Given the description of an element on the screen output the (x, y) to click on. 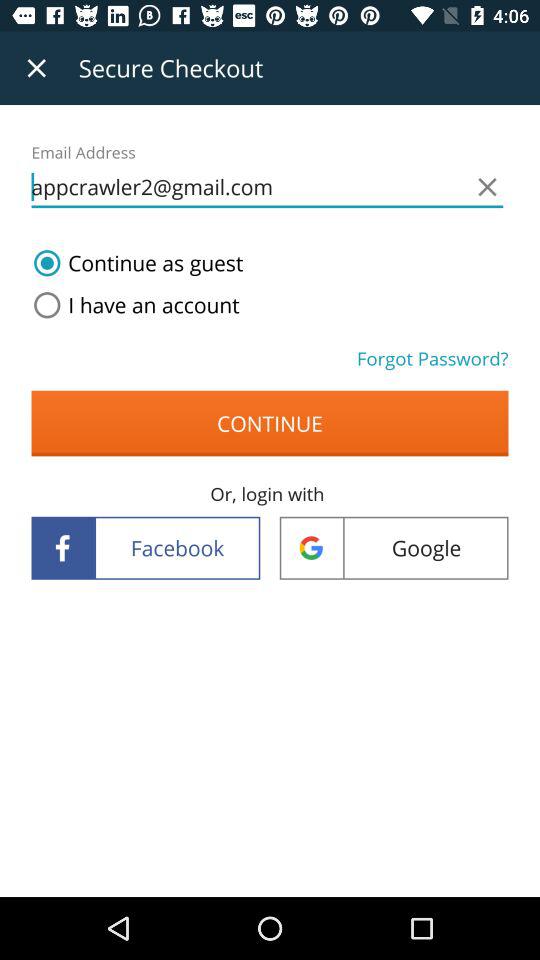
choose the item next to forgot password? (132, 305)
